Given the description of an element on the screen output the (x, y) to click on. 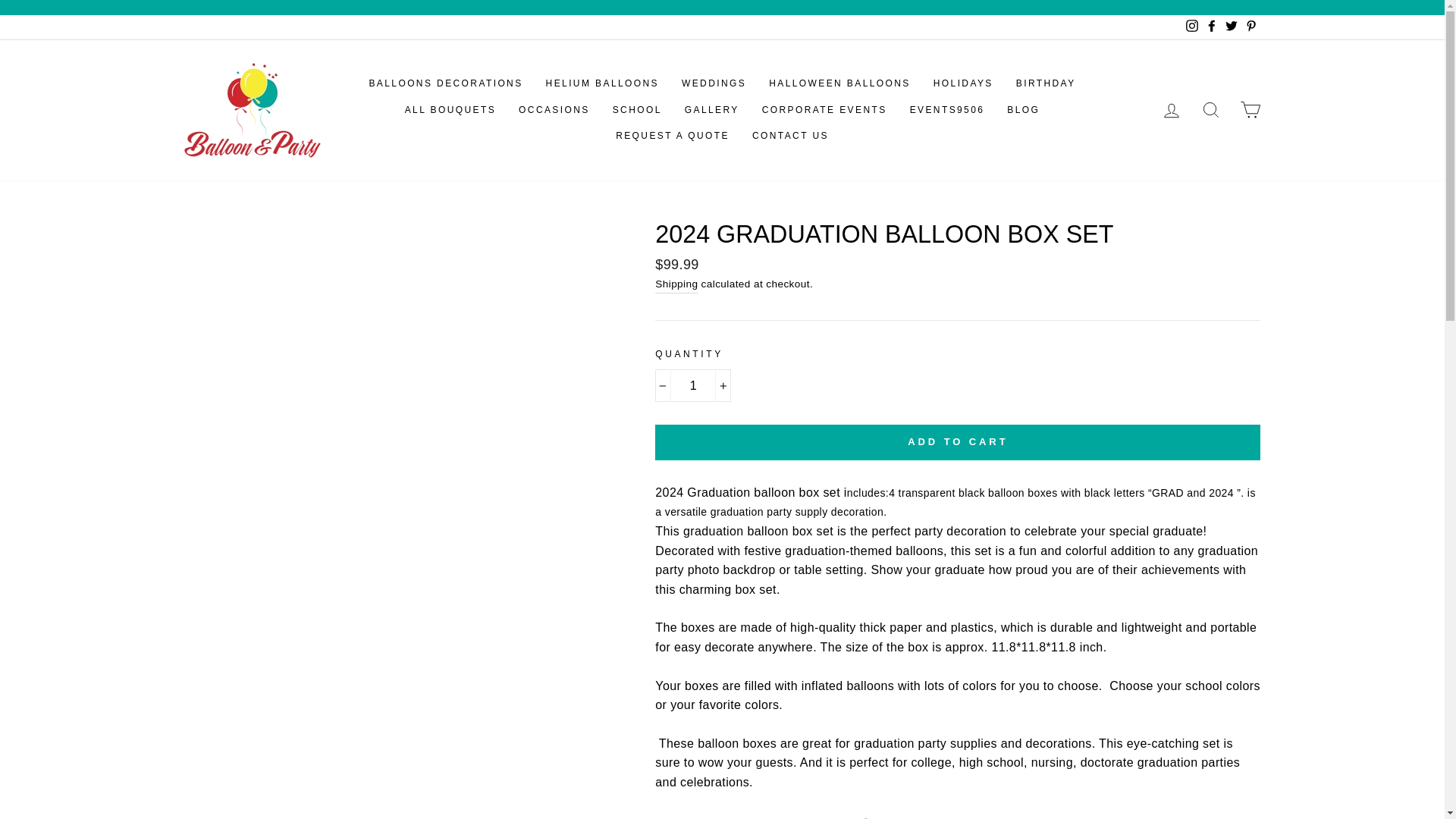
1 (692, 385)
Tweet on Twitter (960, 816)
Pin on Pinterest (1031, 816)
Share on Facebook (887, 816)
